Given the description of an element on the screen output the (x, y) to click on. 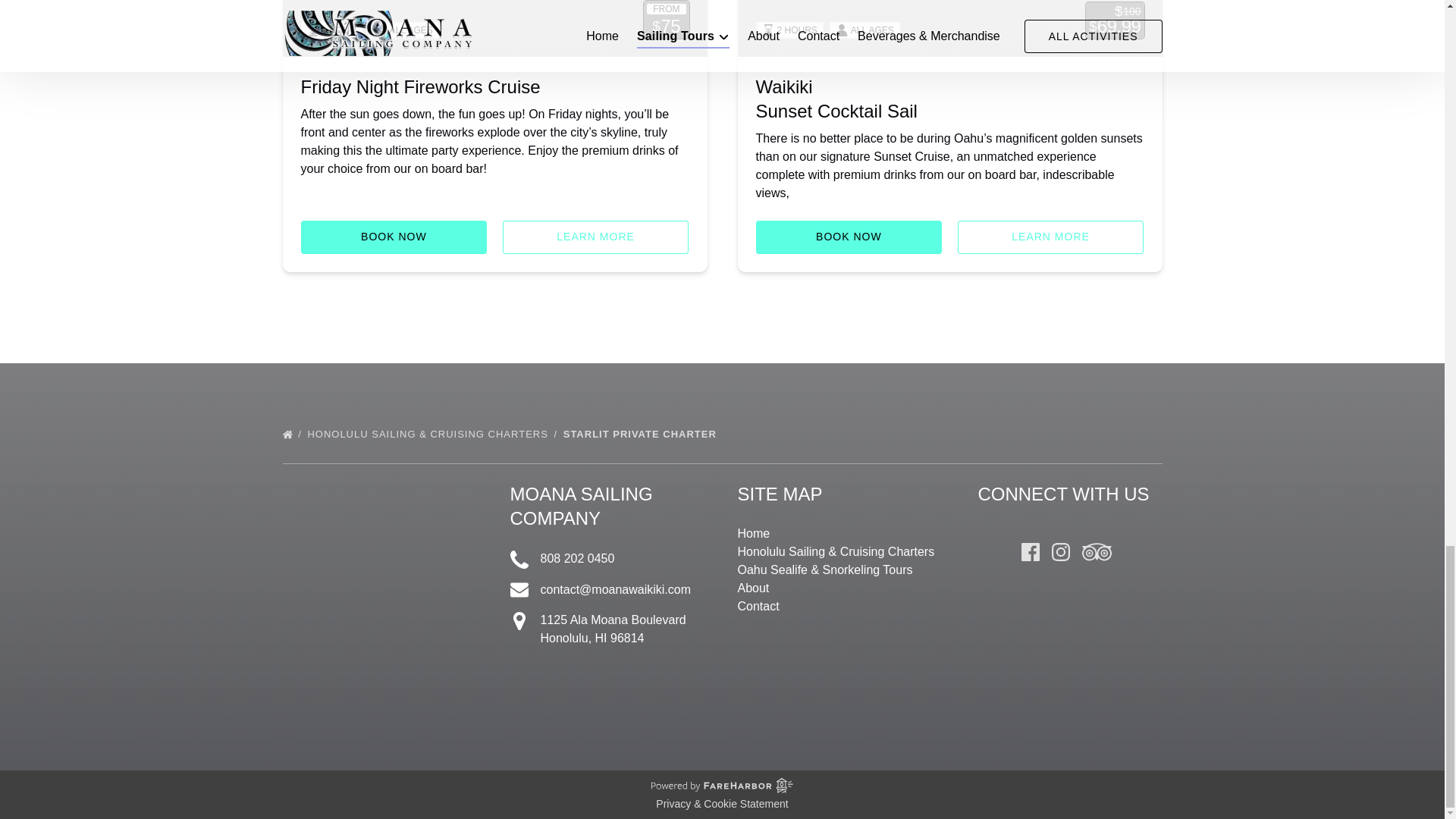
Envelope (518, 589)
Phone (518, 559)
Visit our Instagram (1060, 551)
Map Marker (518, 620)
activity link (494, 28)
activity link (948, 28)
Visit our Facebook (1030, 551)
